Given the description of an element on the screen output the (x, y) to click on. 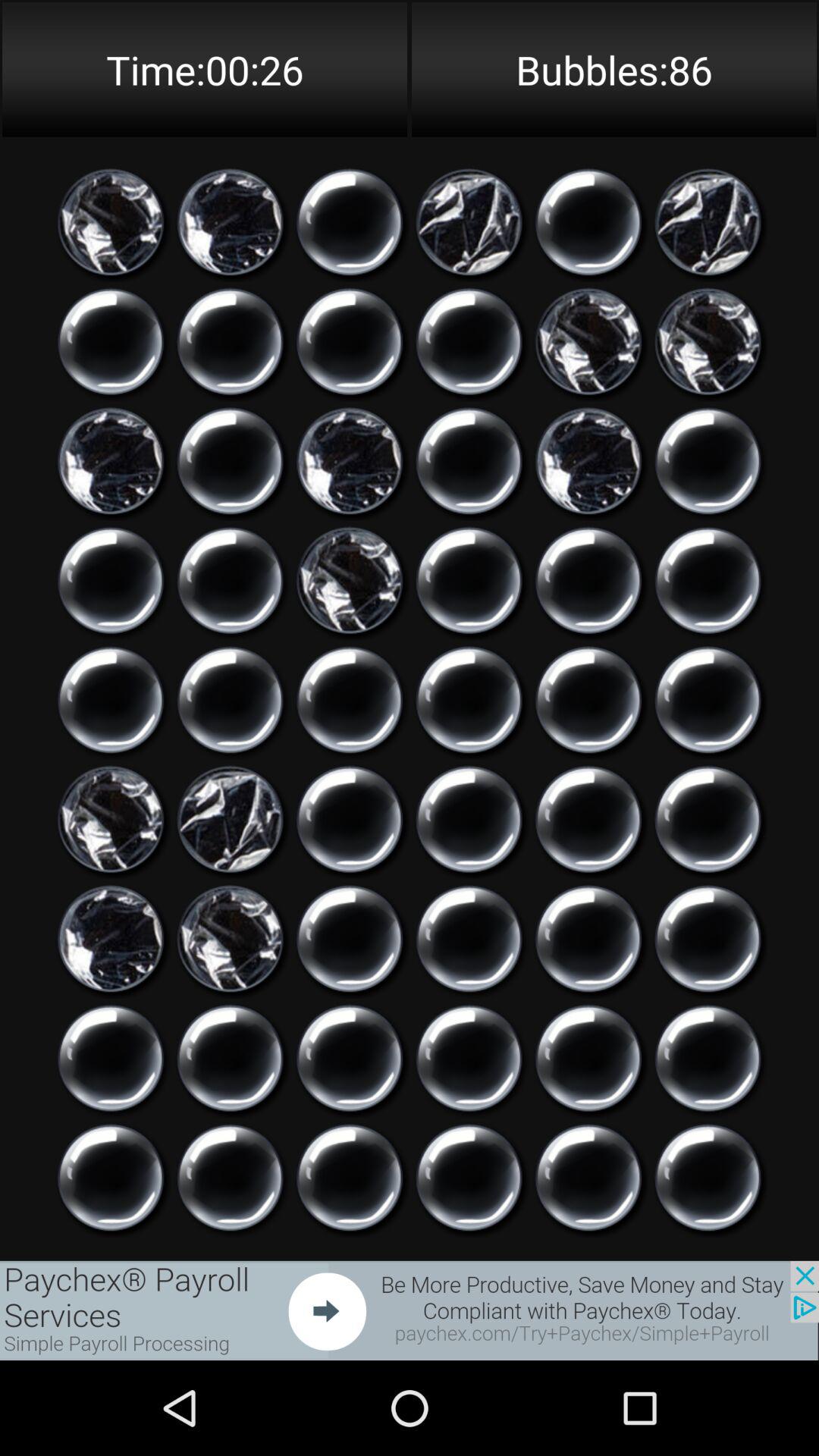
click bubble (230, 1177)
